Given the description of an element on the screen output the (x, y) to click on. 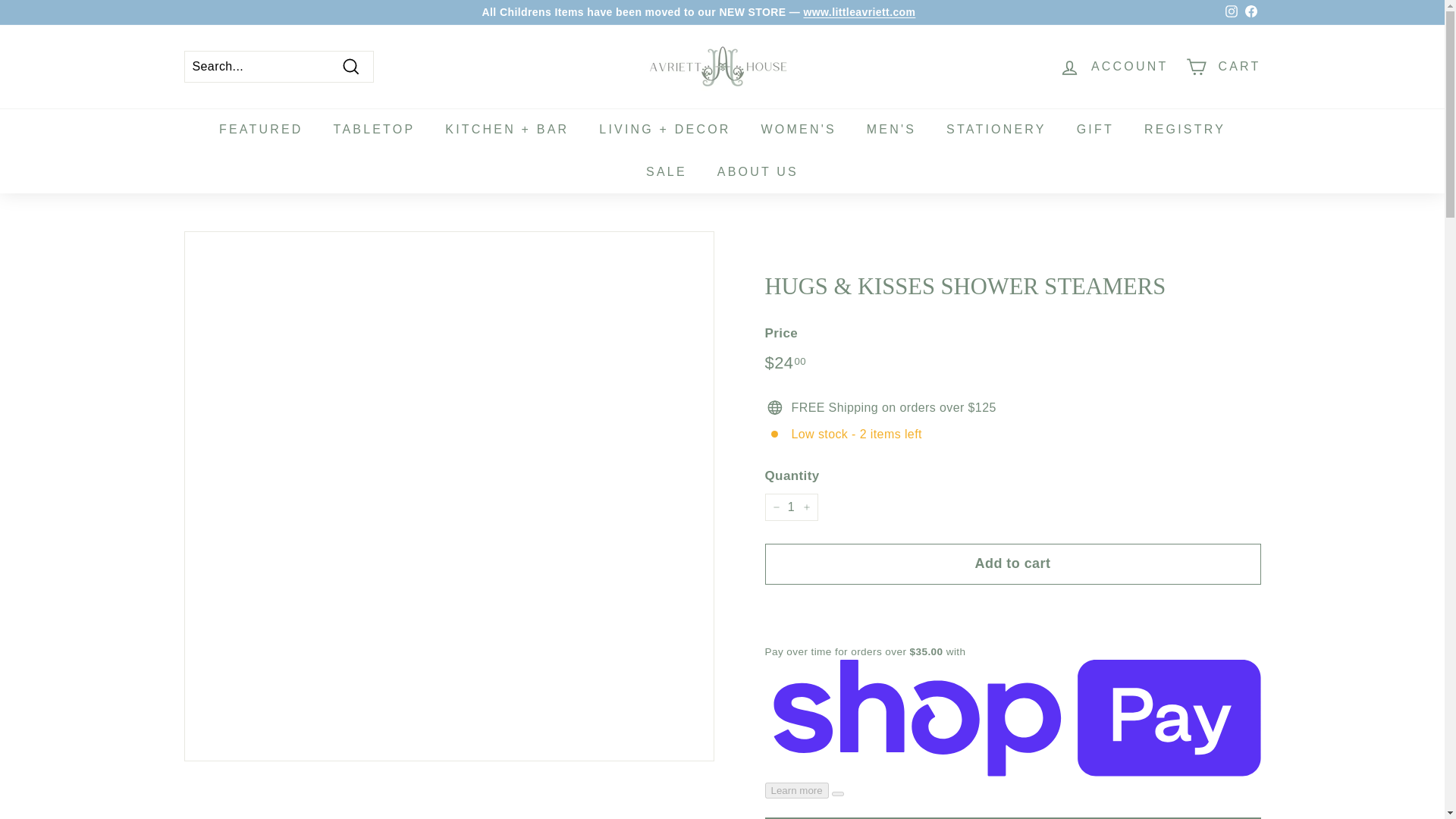
FEATURED (260, 129)
1 (790, 506)
www.littleavriett.com (859, 11)
TABLETOP (374, 129)
ACCOUNT (1113, 66)
